Given the description of an element on the screen output the (x, y) to click on. 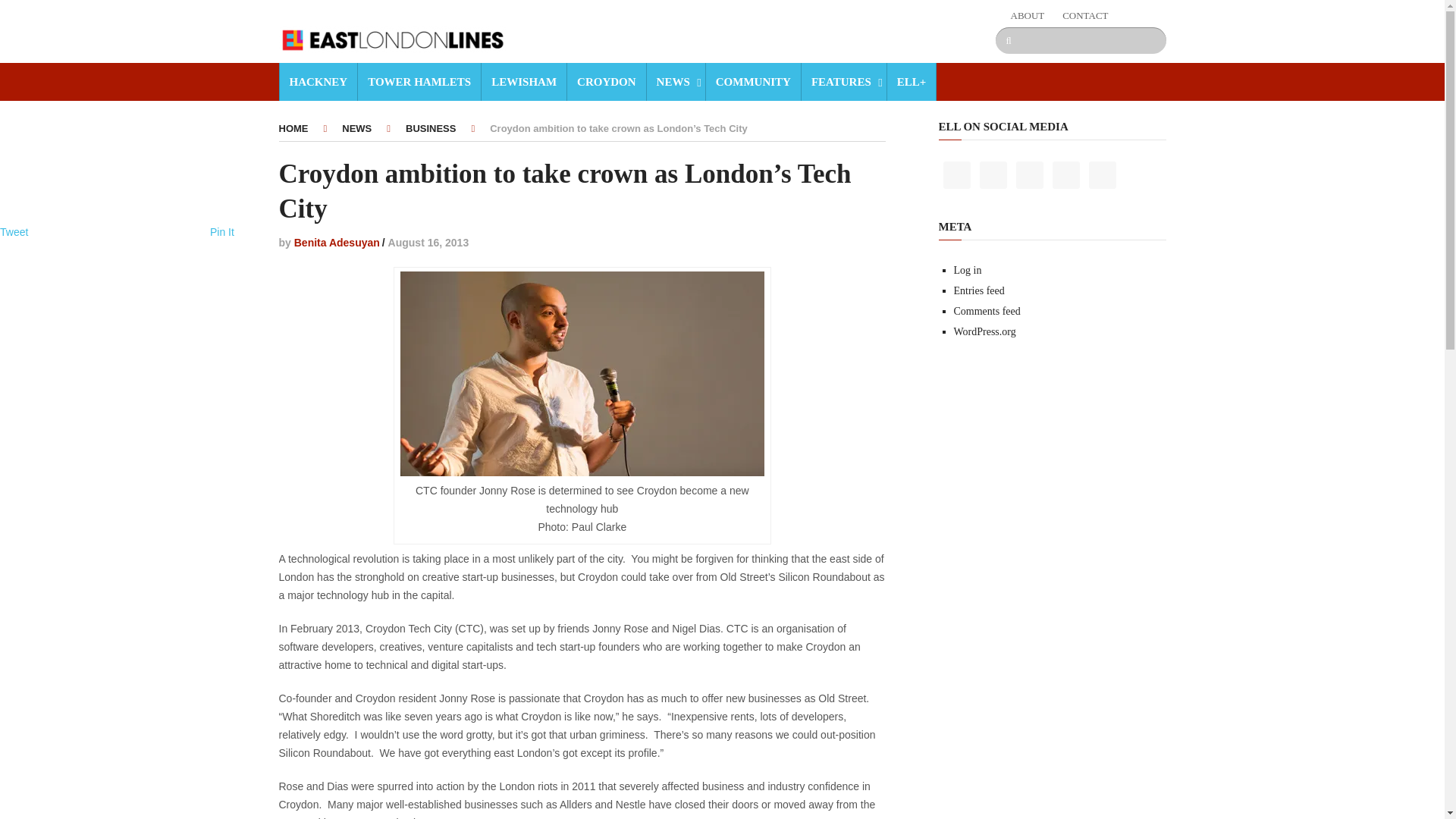
LEWISHAM (523, 81)
COMMUNITY (752, 81)
ABOUT (1026, 15)
FEATURES (843, 81)
HOME (293, 128)
CONTACT (1085, 15)
BUSINESS (430, 128)
Tweet (13, 232)
HACKNEY (318, 81)
NEWS (675, 81)
